Given the description of an element on the screen output the (x, y) to click on. 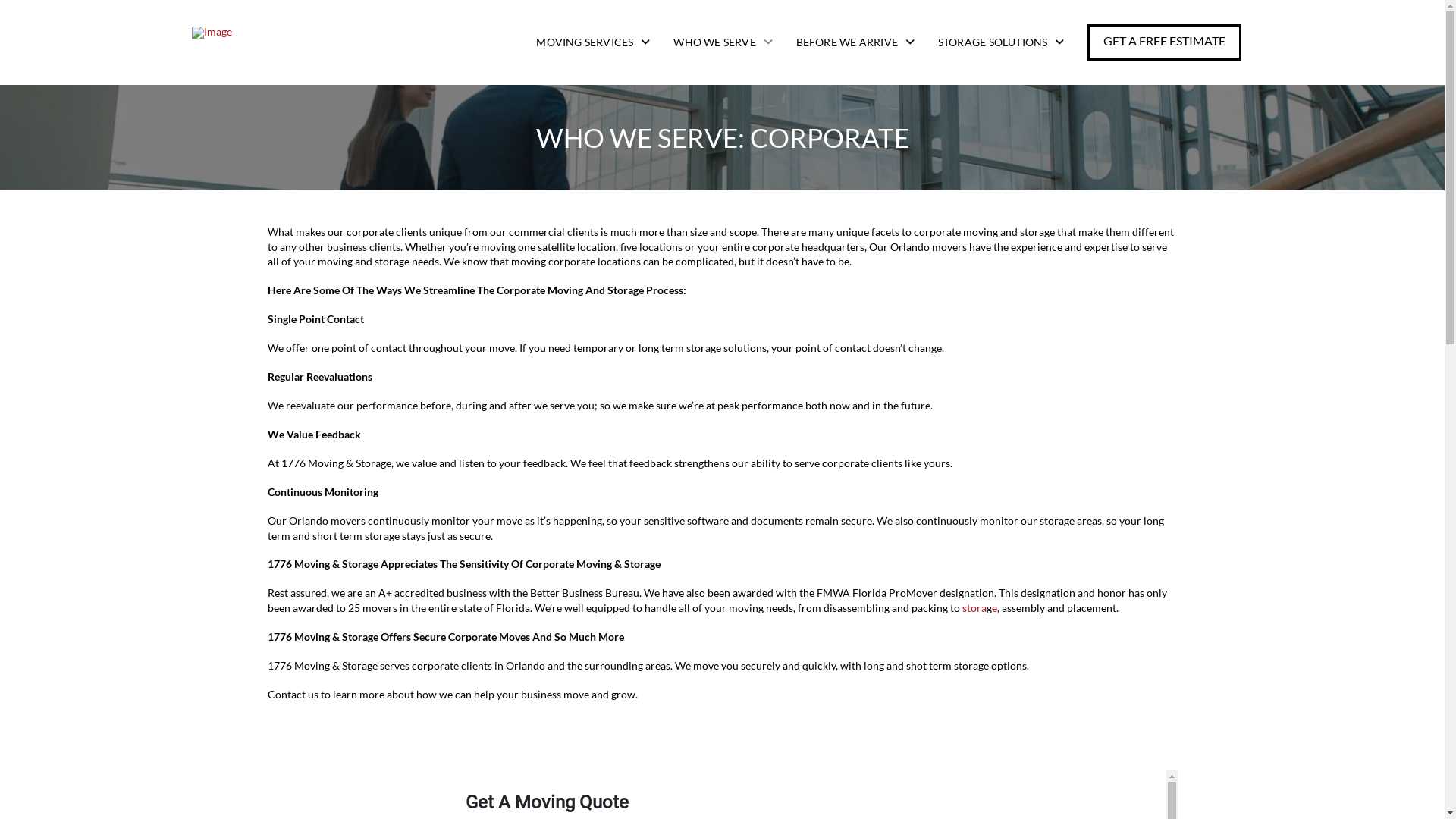
GET A FREE ESTIMATE Element type: text (1164, 42)
BEFORE WE ARRIVE Element type: text (854, 42)
e Element type: text (994, 607)
stora Element type: text (973, 607)
MOVING SERVICES Element type: text (593, 42)
STORAGE SOLUTIONS Element type: text (1000, 42)
GET A FREE ESTIMATE Element type: text (1164, 42)
WHO WE SERVE Element type: text (723, 42)
